Given the description of an element on the screen output the (x, y) to click on. 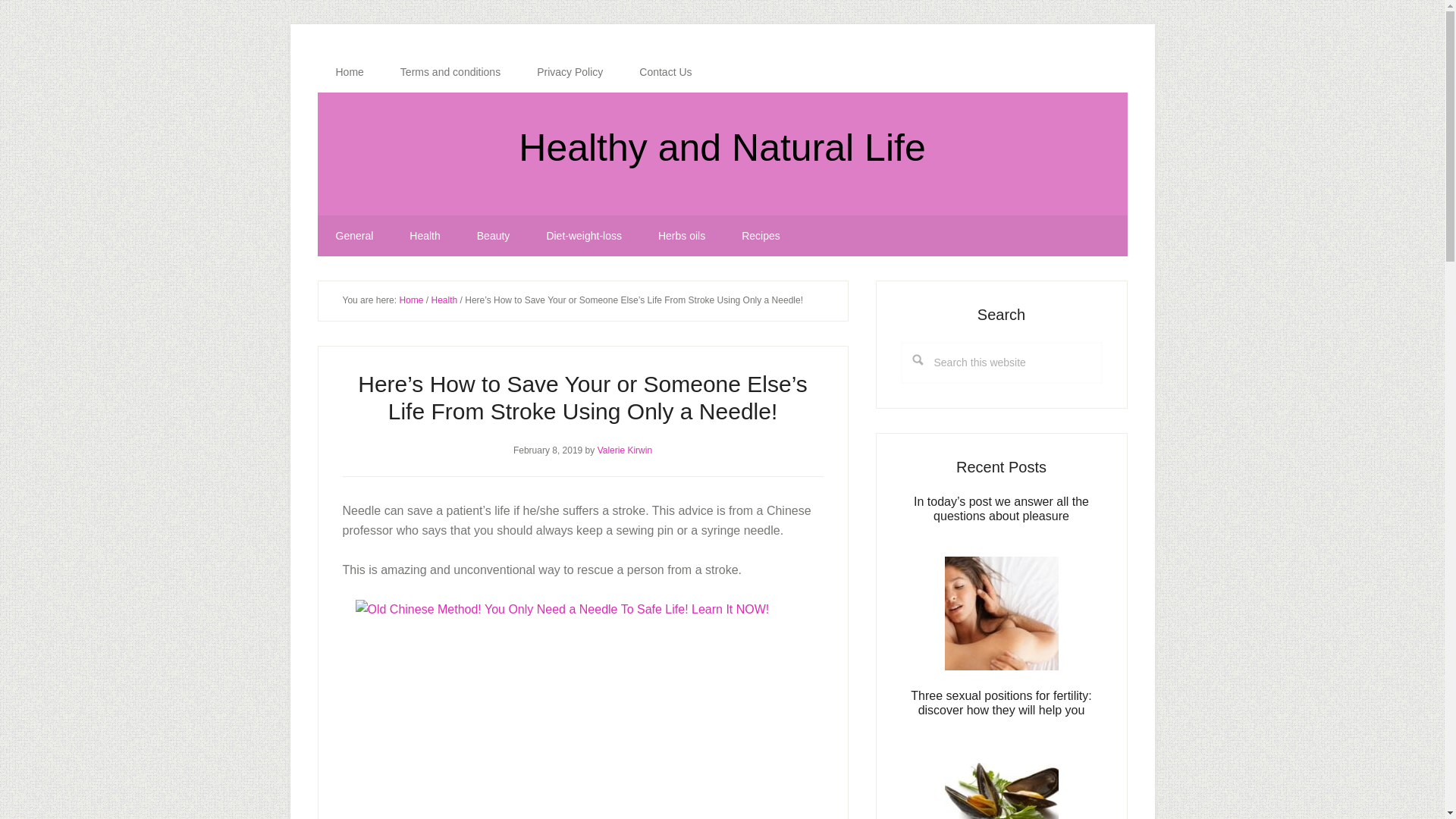
Valerie Kirwin (624, 449)
Contact Us (665, 71)
Diet-weight-loss (583, 235)
Herbs oils (681, 235)
General (354, 235)
Beauty (493, 235)
Privacy Policy (569, 71)
Home (349, 71)
